Given the description of an element on the screen output the (x, y) to click on. 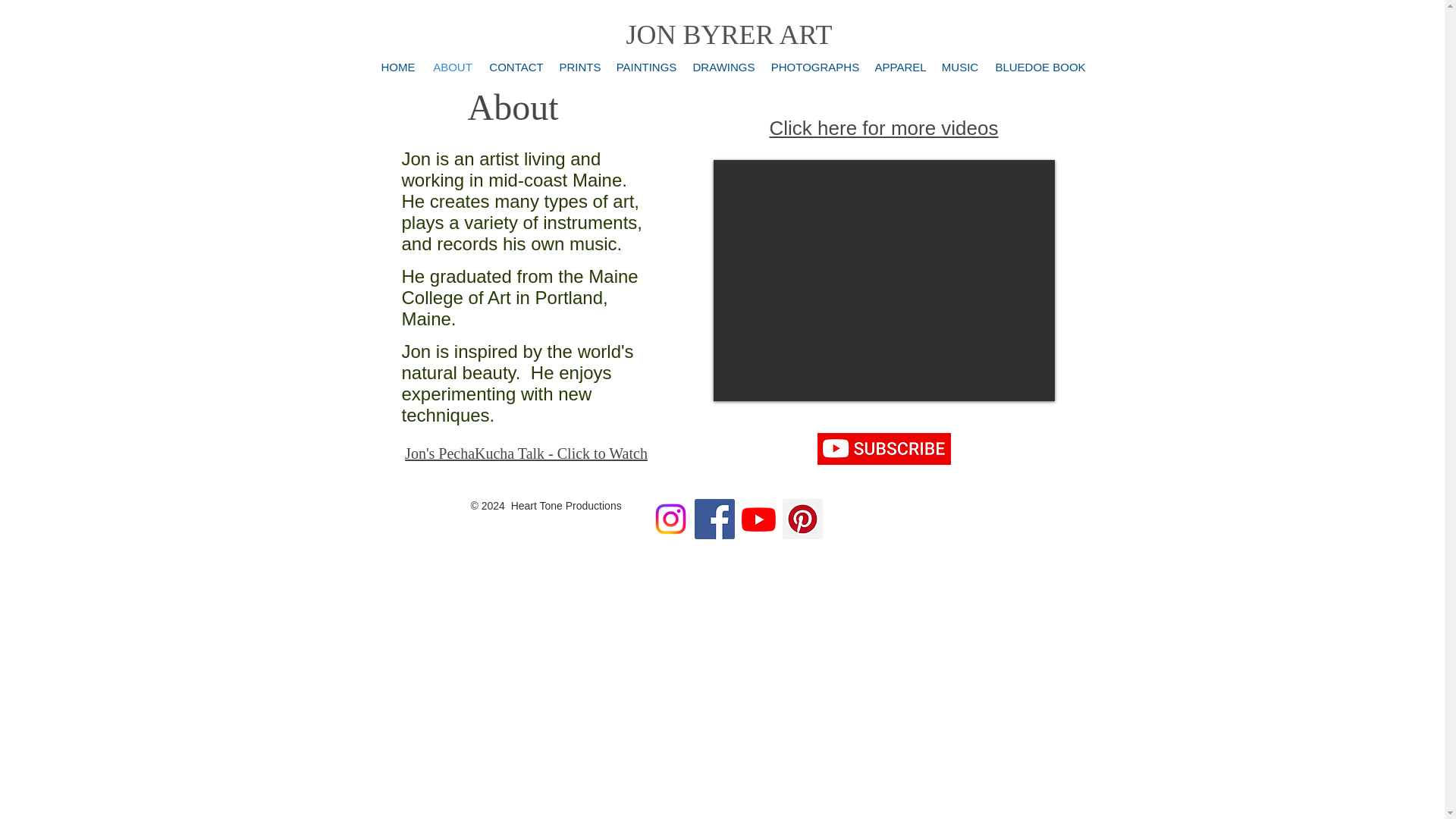
HOME (397, 66)
Click here for more videos (882, 128)
MUSIC (960, 66)
APPAREL (900, 66)
BLUEDOE BOOK (1040, 66)
CONTACT (515, 66)
PHOTOGRAPHS (814, 66)
PAINTINGS (646, 66)
External YouTube (883, 280)
ABOUT (453, 66)
